Given the description of an element on the screen output the (x, y) to click on. 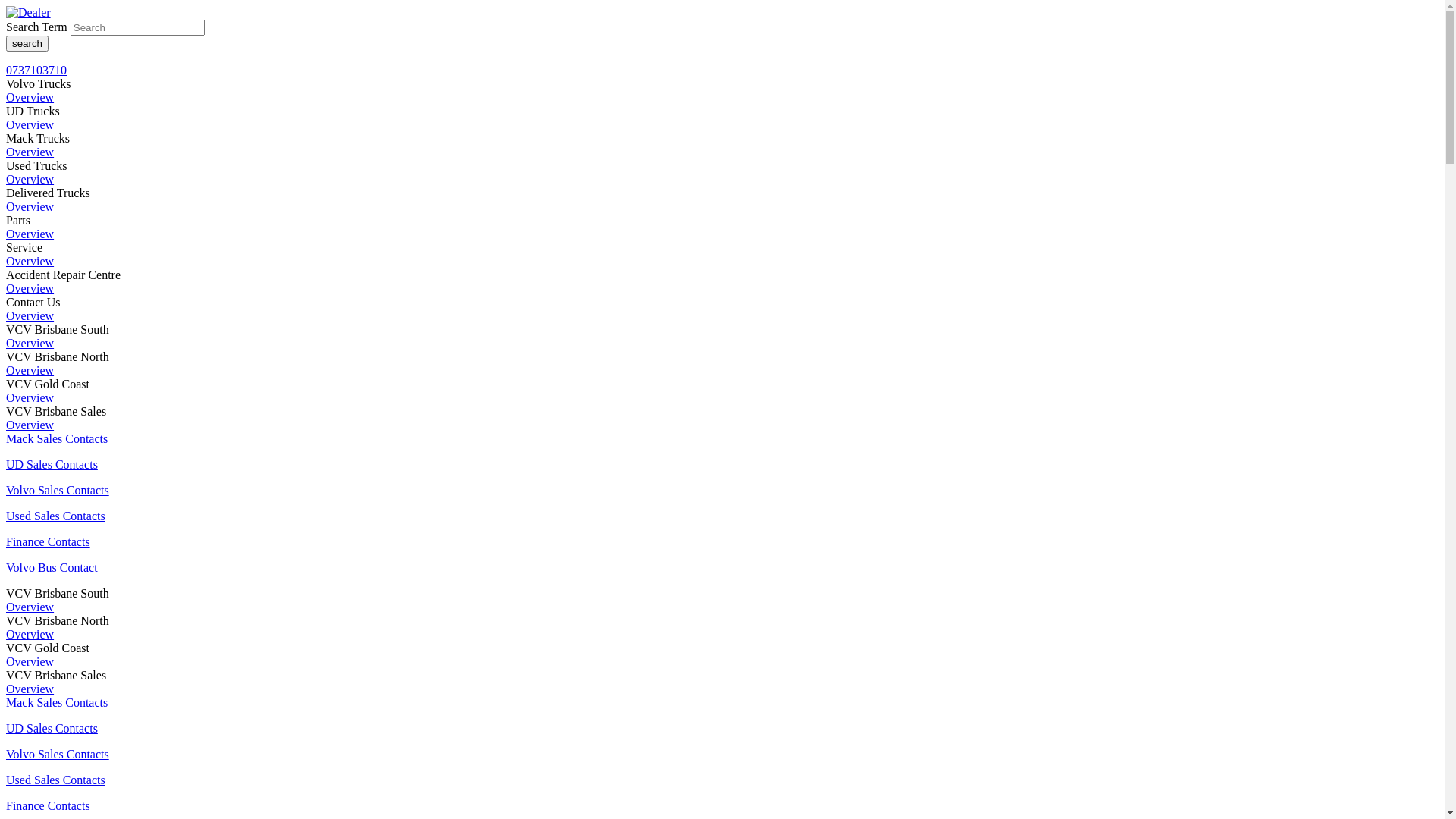
Volvo Bus Contact Element type: text (51, 567)
UD Sales Contacts Element type: text (51, 464)
VCV Gold Coast Element type: text (47, 383)
Overview Element type: text (29, 260)
UD Trucks Element type: text (32, 110)
Overview Element type: text (29, 124)
Finance Contacts Element type: text (48, 805)
Volvo Sales Contacts Element type: text (57, 753)
Mack Trucks Element type: text (37, 137)
Overview Element type: text (29, 688)
VCV Brisbane North Element type: text (57, 620)
Overview Element type: text (29, 397)
Parts Element type: text (18, 219)
Delivered Trucks Element type: text (48, 192)
Accident Repair Centre Element type: text (63, 274)
Overview Element type: text (29, 633)
Overview Element type: text (29, 661)
VCV Gold Coast Element type: text (47, 647)
Finance Contacts Element type: text (48, 541)
Service Element type: text (24, 247)
Overview Element type: text (29, 315)
Dealer logo Element type: hover (28, 12)
Overview Element type: text (29, 206)
UD Sales Contacts Element type: text (51, 727)
Overview Element type: text (29, 178)
Overview Element type: text (29, 342)
Used Sales Contacts Element type: text (55, 779)
VCV Brisbane North Element type: text (57, 356)
Used Sales Contacts Element type: text (55, 515)
Contact Us Element type: text (33, 301)
Overview Element type: text (29, 151)
Overview Element type: text (29, 97)
VCV Brisbane Sales Element type: text (56, 410)
Overview Element type: text (29, 288)
Mack Sales Contacts Element type: text (56, 702)
Volvo Trucks Element type: text (38, 83)
Overview Element type: text (29, 370)
search Element type: text (27, 43)
VCV Brisbane Sales Element type: text (56, 674)
Overview Element type: text (29, 233)
VCV Brisbane South Element type: text (57, 329)
Mack Sales Contacts Element type: text (56, 438)
Overview Element type: text (29, 424)
0737103710 Element type: text (36, 69)
Volvo Sales Contacts Element type: text (57, 489)
VCV Brisbane South Element type: text (57, 592)
Used Trucks Element type: text (36, 165)
Overview Element type: text (29, 606)
